Given the description of an element on the screen output the (x, y) to click on. 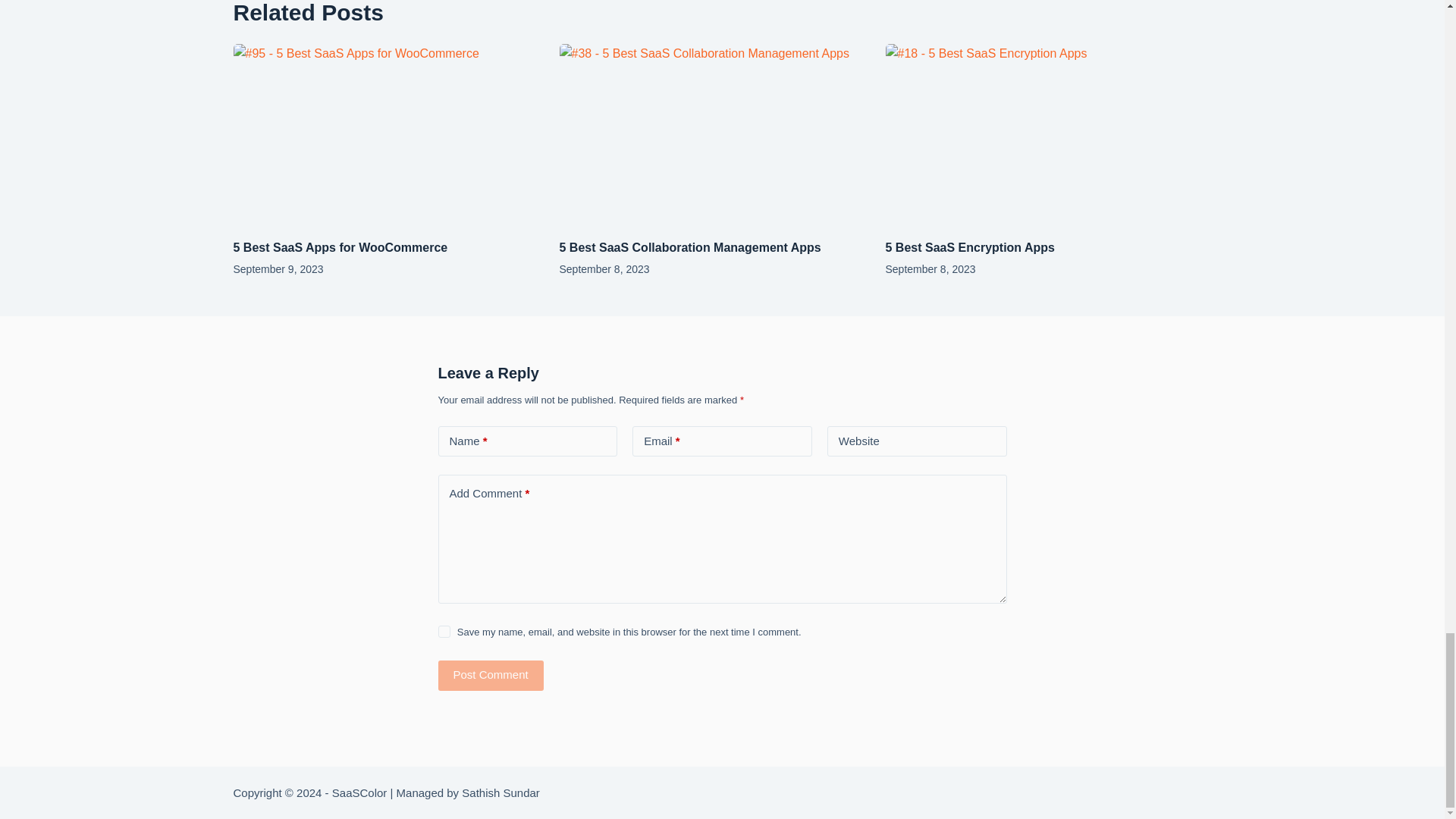
yes (443, 631)
